Given the description of an element on the screen output the (x, y) to click on. 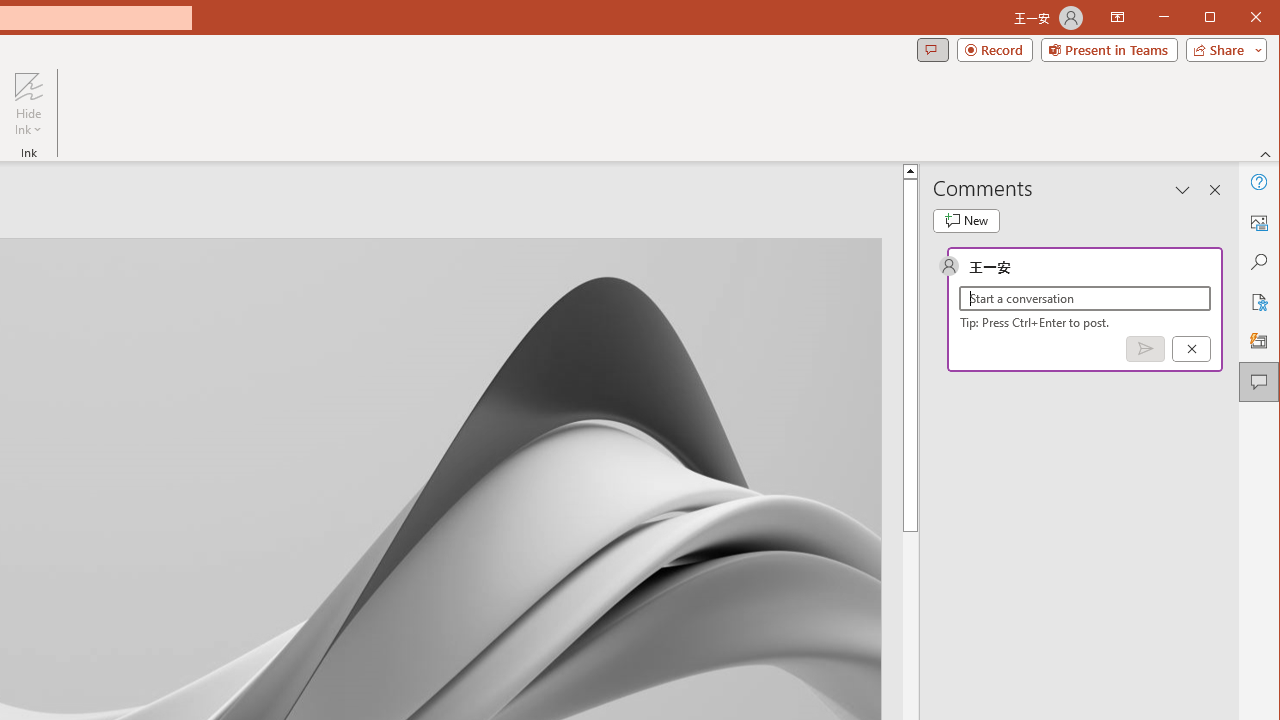
Start a conversation (1085, 298)
Maximize (1238, 18)
Post comment (Ctrl + Enter) (1145, 349)
New comment (966, 220)
